Given the description of an element on the screen output the (x, y) to click on. 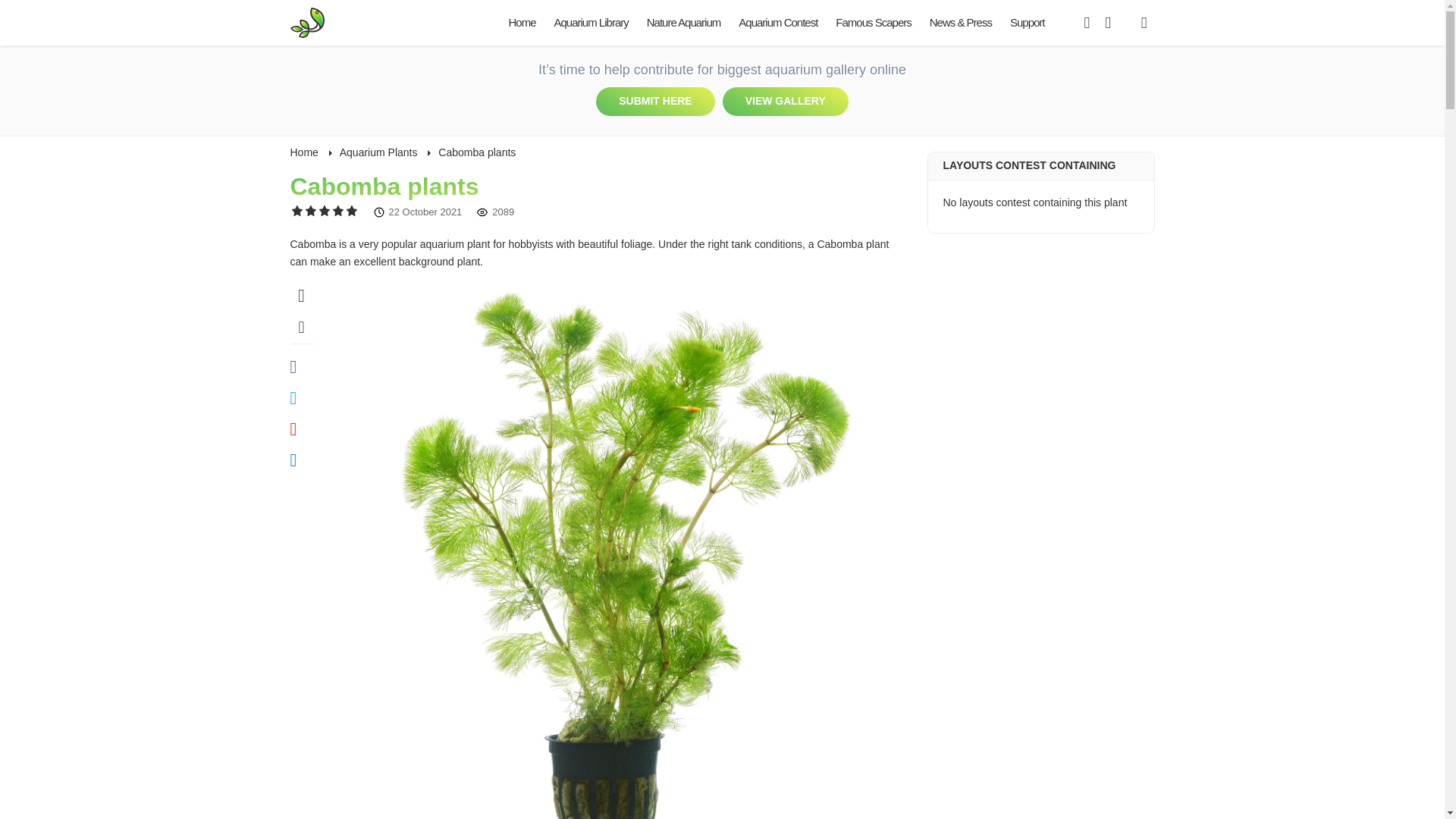
Famous Scapers (873, 22)
Home (521, 22)
Aquarium Libraries (311, 22)
